Given the description of an element on the screen output the (x, y) to click on. 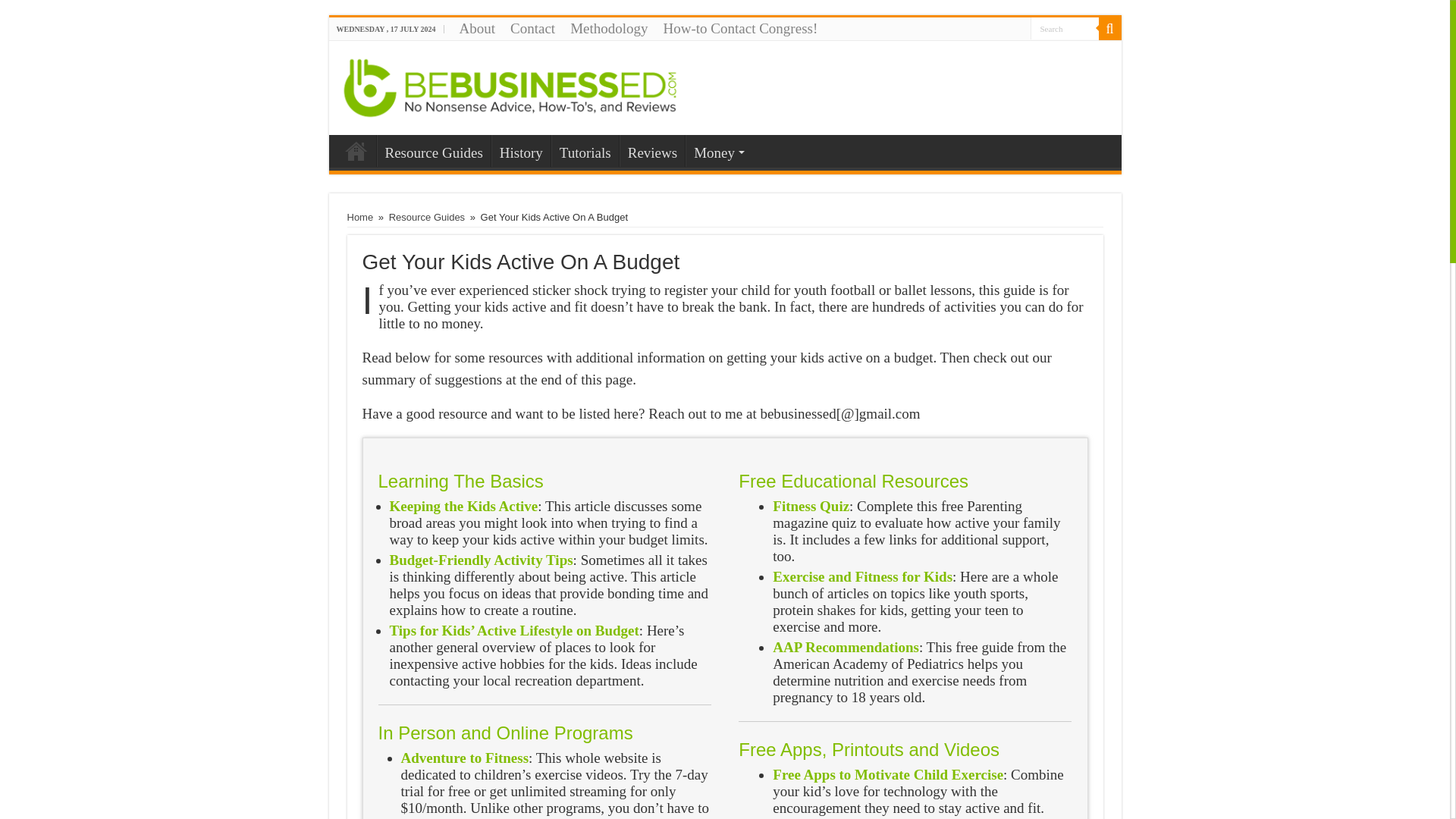
Exercise and Fitness for Kids (862, 576)
Menu Item (355, 151)
Reviews (652, 151)
How-to Contact Congress! (740, 28)
AAP Recommendations (845, 647)
Tutorials (584, 151)
History (521, 151)
Resource Guides (432, 151)
Free Apps to Motivate Child Exercise (888, 774)
Search (1063, 28)
Money (717, 151)
Fitness Quiz (810, 505)
Adventure to Fitness (464, 757)
Search (1109, 28)
Budget-Friendly Activity Tips (481, 560)
